Given the description of an element on the screen output the (x, y) to click on. 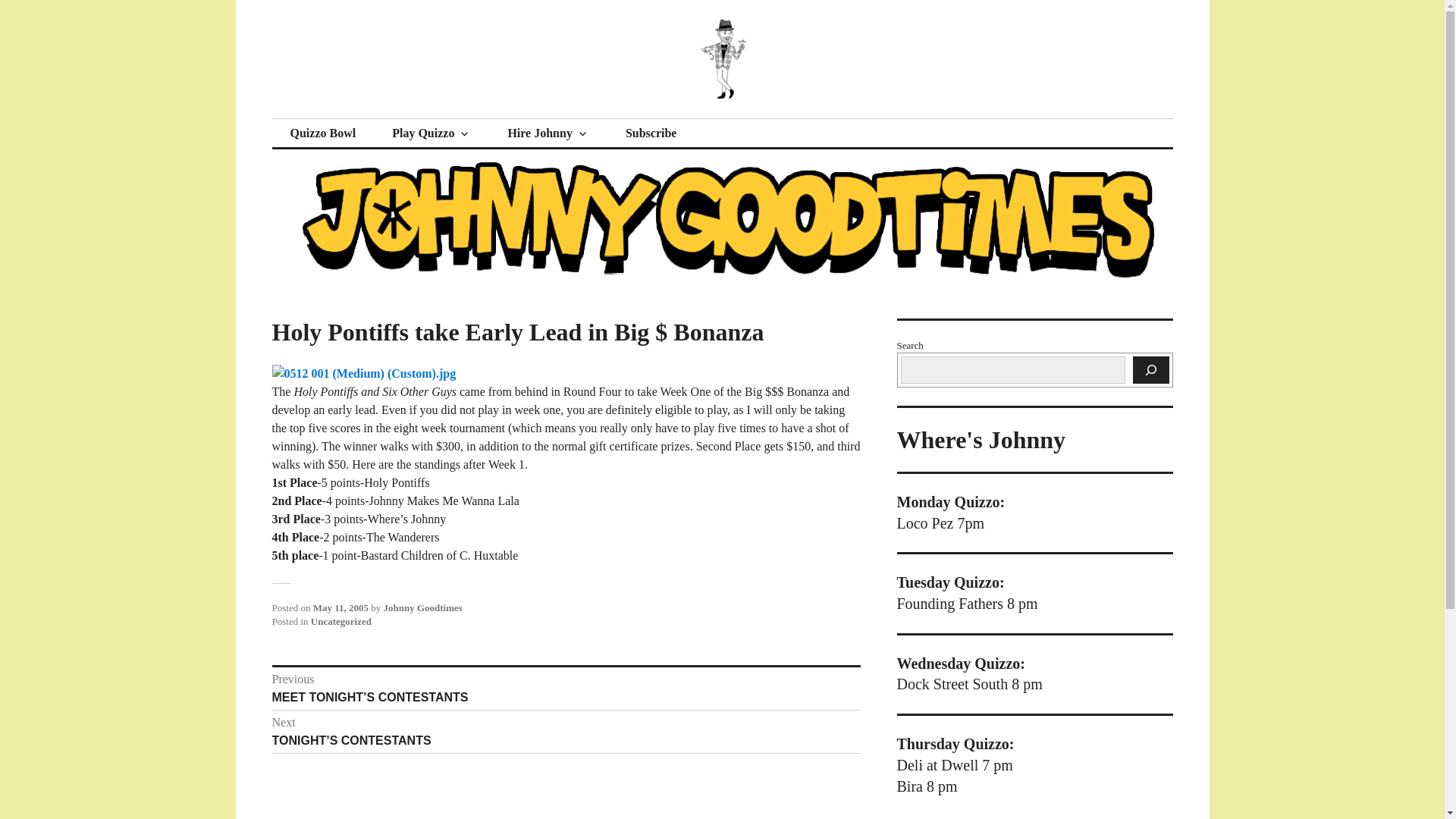
Sign up for the Johnny Goodtimes Email Newsletter (651, 133)
May 11, 2005 (340, 607)
Hire Johnny (548, 133)
Subscribe (651, 133)
Johnny Goodtimes (392, 117)
Play Quizzo (431, 133)
Uncategorized (341, 621)
Johnny Goodtimes (421, 607)
Quizzo Bowl (322, 133)
